Given the description of an element on the screen output the (x, y) to click on. 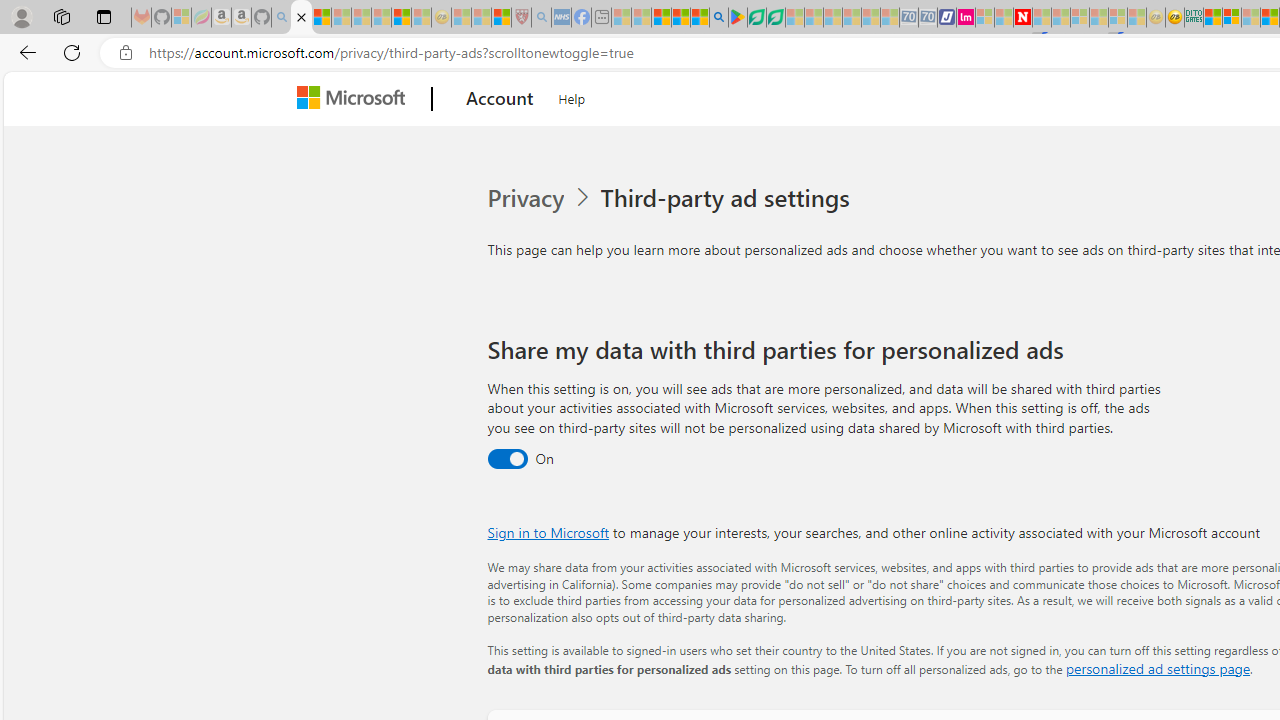
Cheap Hotels - Save70.com - Sleeping (927, 17)
Latest Politics News & Archive | Newsweek.com (1022, 17)
Microsoft Word - consumer-privacy address update 2.2021 (775, 17)
Microsoft (354, 99)
Trusted Community Engagement and Contributions | Guidelines (1041, 17)
